Given the description of an element on the screen output the (x, y) to click on. 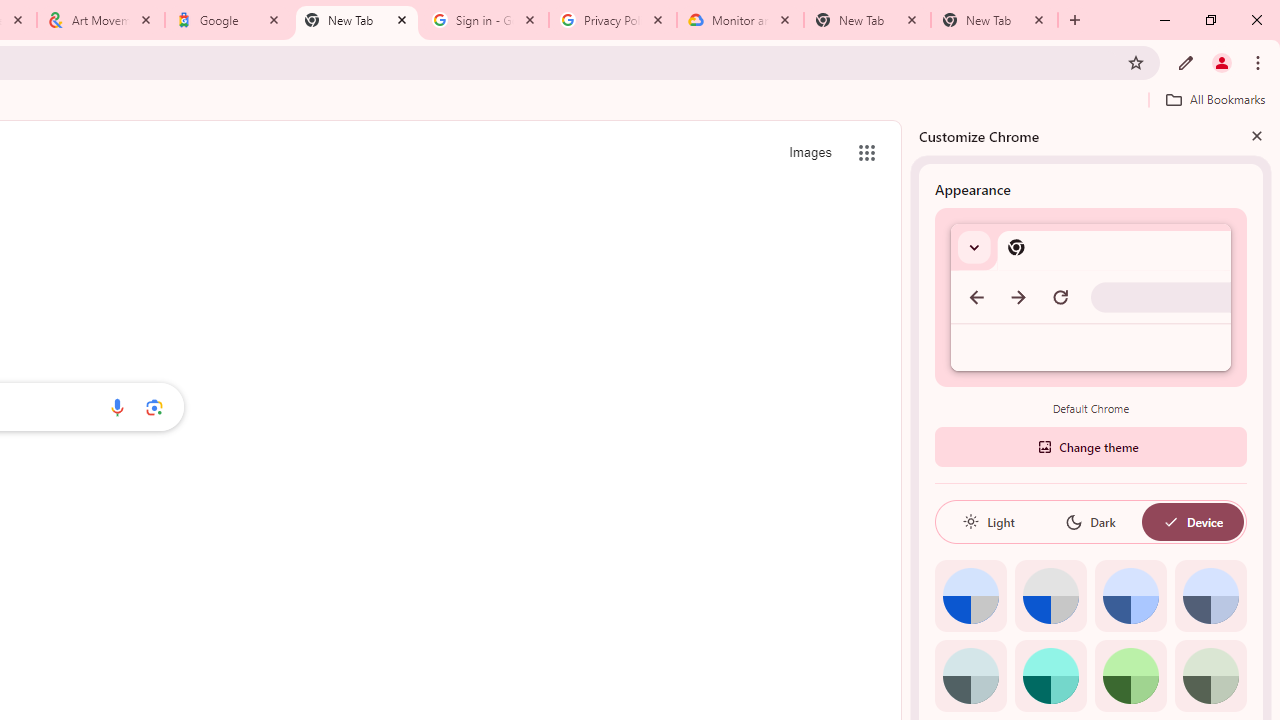
Grey default color (1050, 596)
Change theme (1090, 446)
Light (988, 521)
Cool grey (1210, 596)
Google (229, 20)
New Tab (357, 20)
AutomationID: baseSvg (1170, 521)
